Given the description of an element on the screen output the (x, y) to click on. 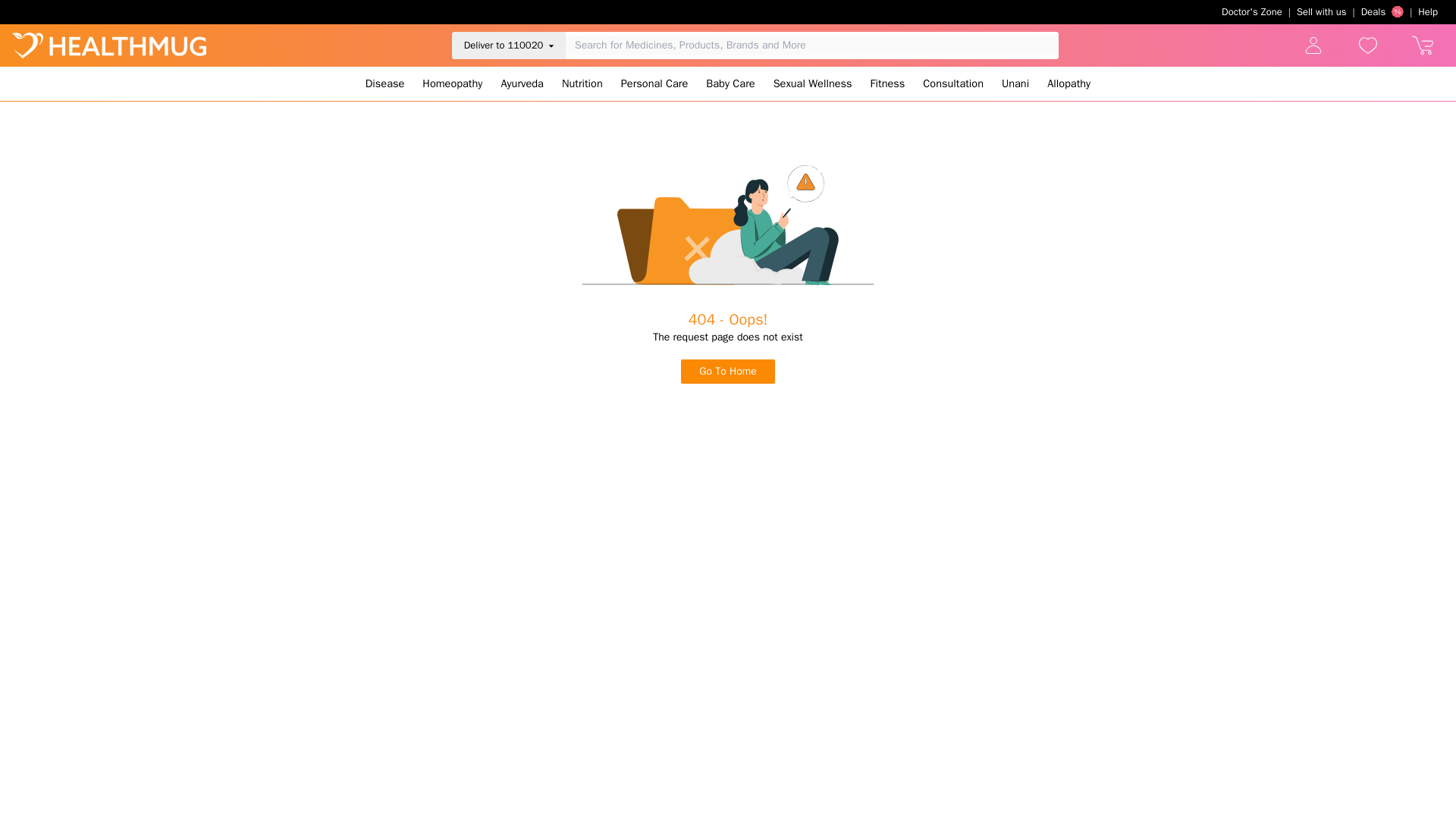
Allopathy (1068, 83)
Nutrition (582, 83)
Sell with us (1321, 12)
Personal Care (654, 83)
Fitness (887, 83)
Homeopathy (452, 83)
Go To Home (727, 371)
Ayurveda (521, 83)
Consultation (953, 83)
Help (1428, 12)
